Given the description of an element on the screen output the (x, y) to click on. 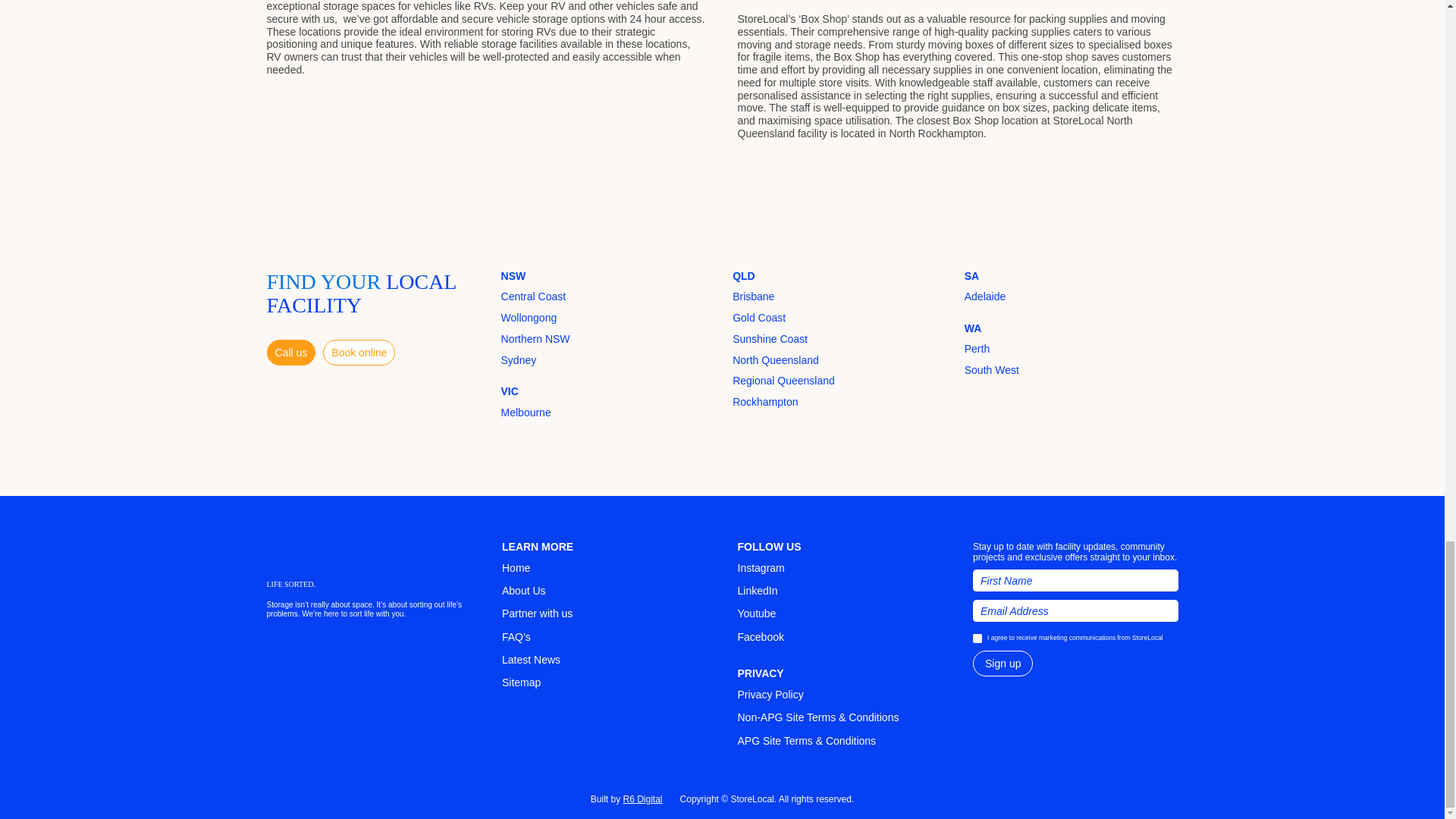
ssaa-logo (318, 655)
1 (976, 637)
Sign up (1002, 663)
